Given the description of an element on the screen output the (x, y) to click on. 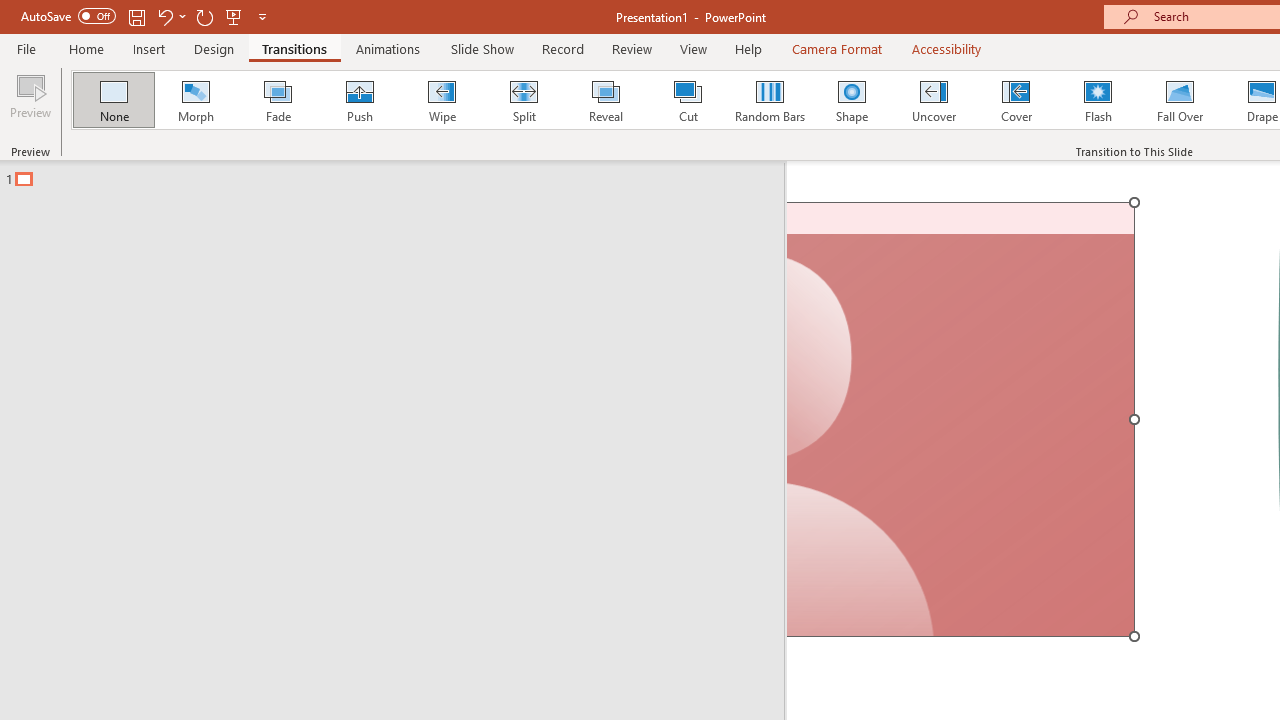
Morph (195, 100)
Camera 7, No camera detected. (961, 419)
Fade (277, 100)
Fall Over (1180, 100)
Push (359, 100)
